Given the description of an element on the screen output the (x, y) to click on. 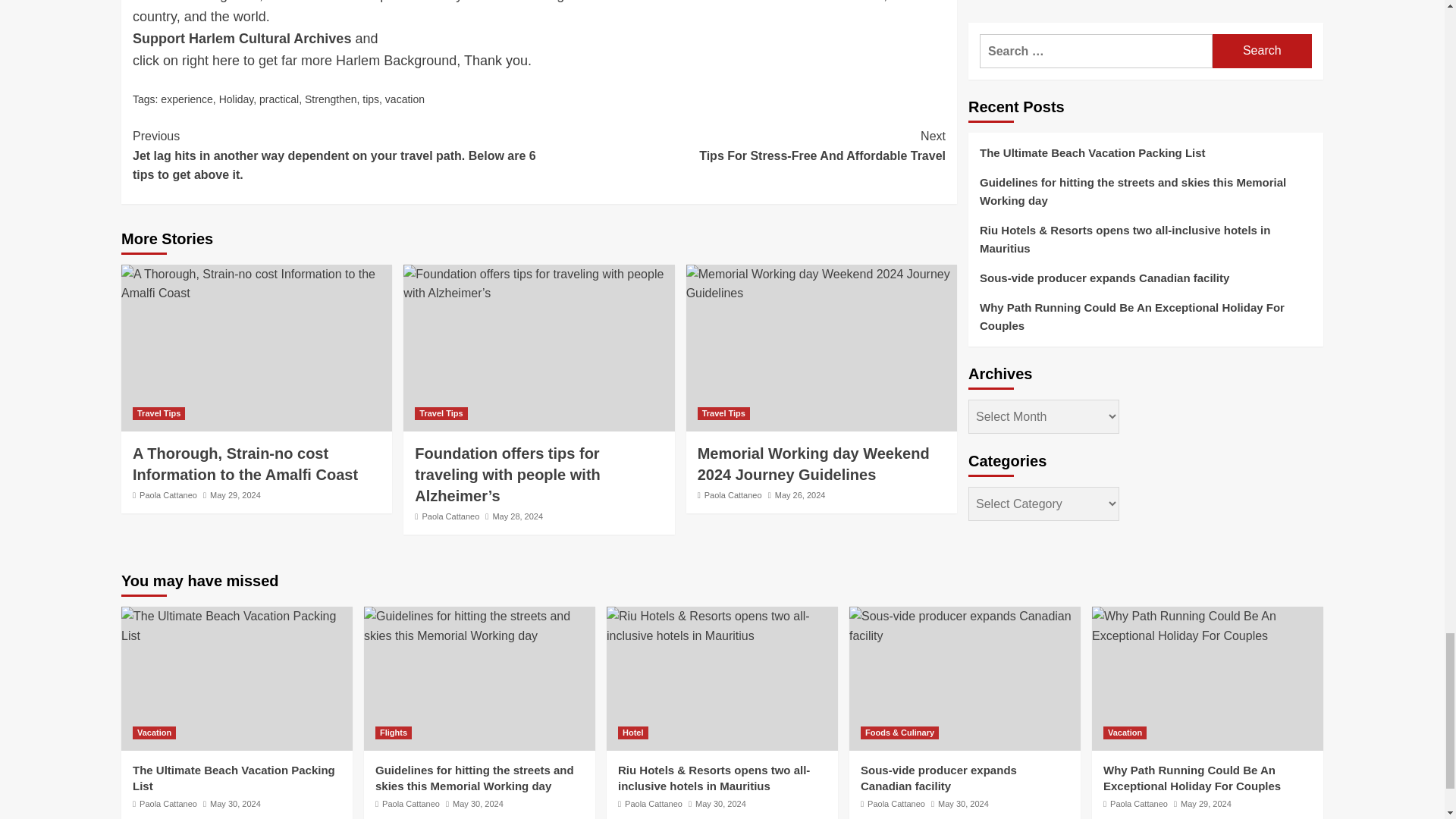
A Thorough, Strain-no cost Information to the Amalfi Coast (255, 283)
Memorial Working day Weekend 2024 Journey Guidelines (820, 283)
YouTube video player (538, 36)
The Ultimate Beach Vacation Packing List (236, 625)
